Given the description of an element on the screen output the (x, y) to click on. 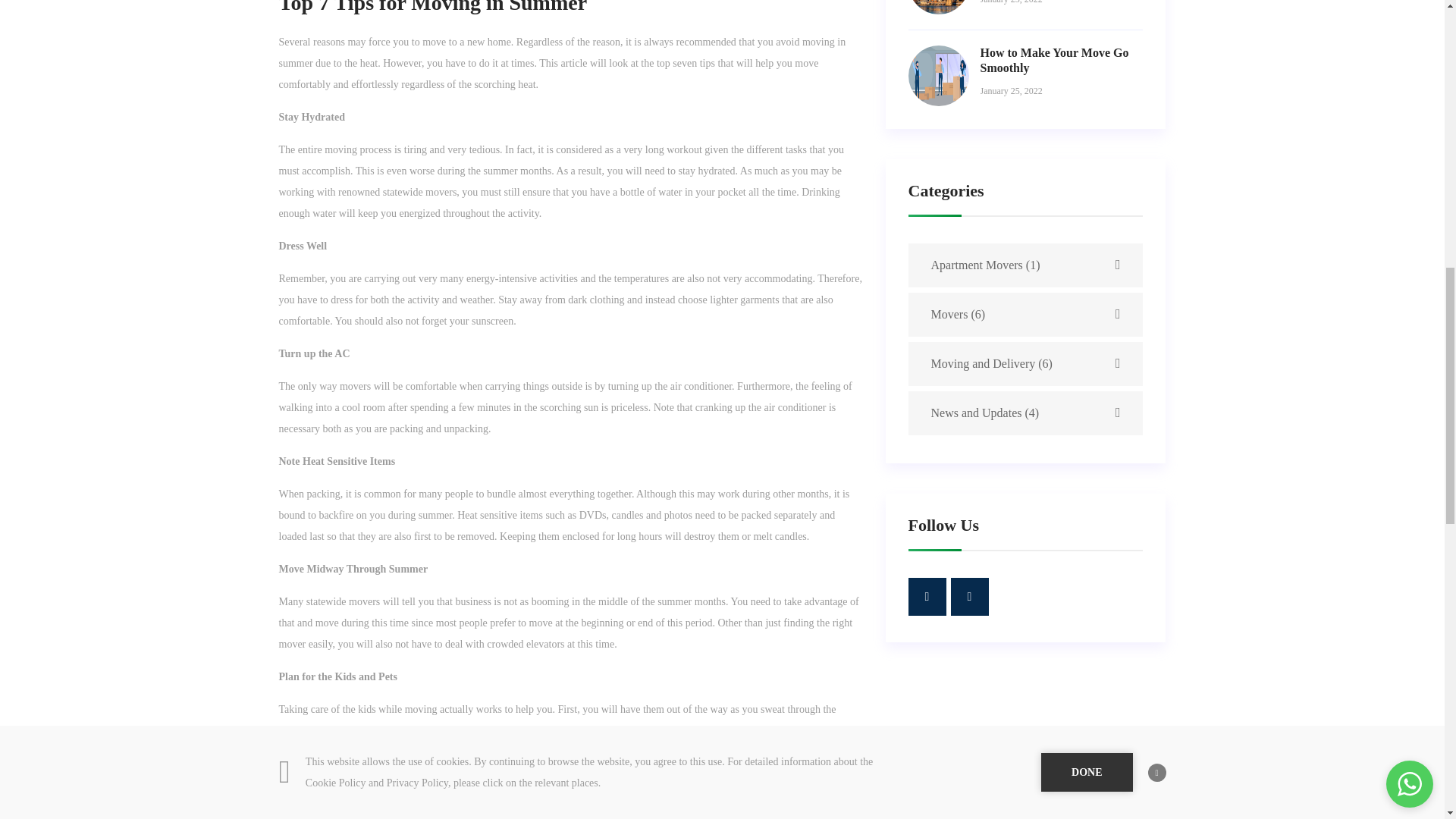
How to Make Your Move Go Smoothly (1053, 60)
